Given the description of an element on the screen output the (x, y) to click on. 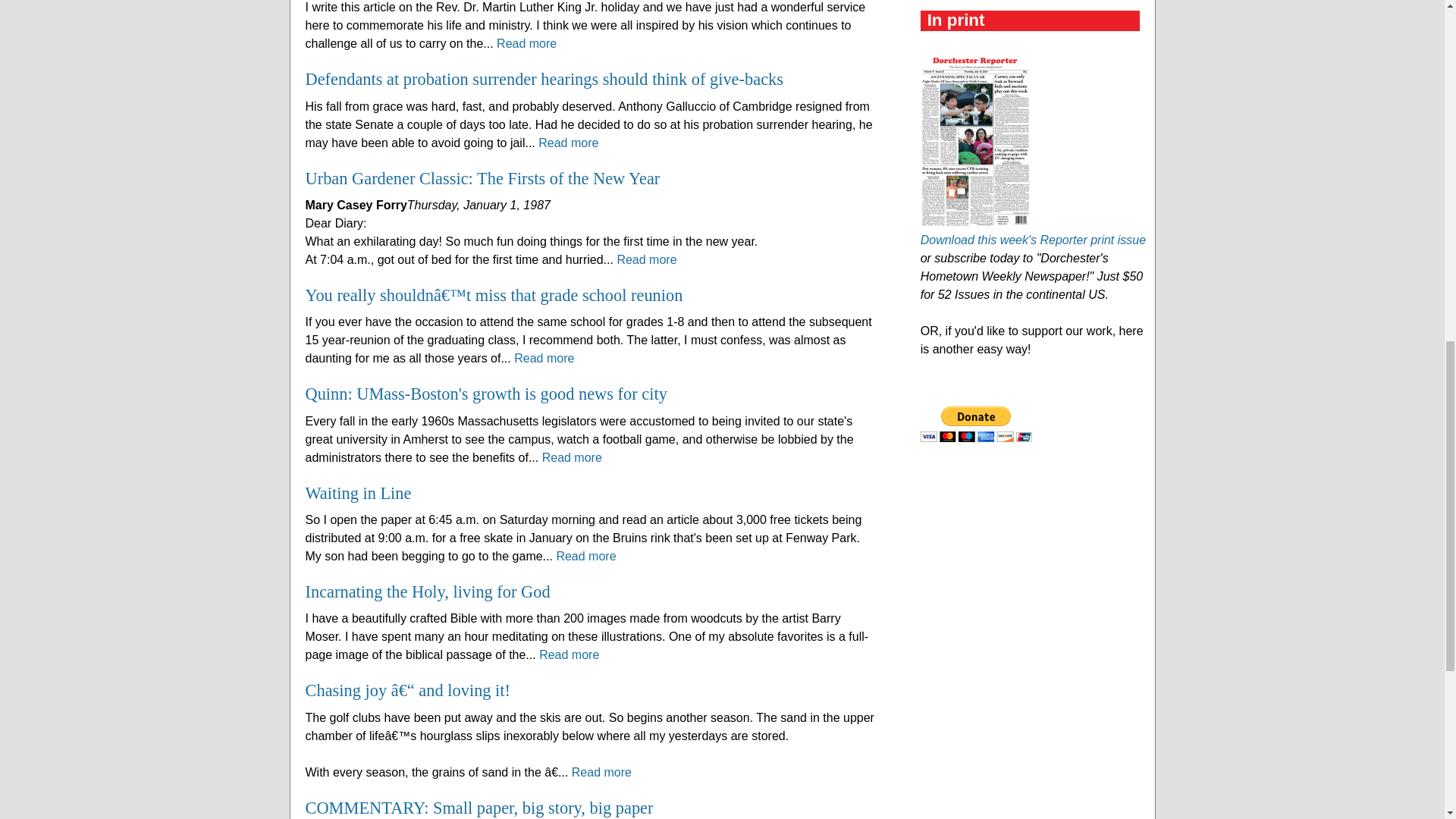
Read more (526, 42)
Read more (646, 259)
Quinn: UMass-Boston's growth is good news for city (485, 393)
Urban Gardener Classic: The Firsts of the New Year (481, 178)
Read more (543, 358)
Read more (568, 142)
